Given the description of an element on the screen output the (x, y) to click on. 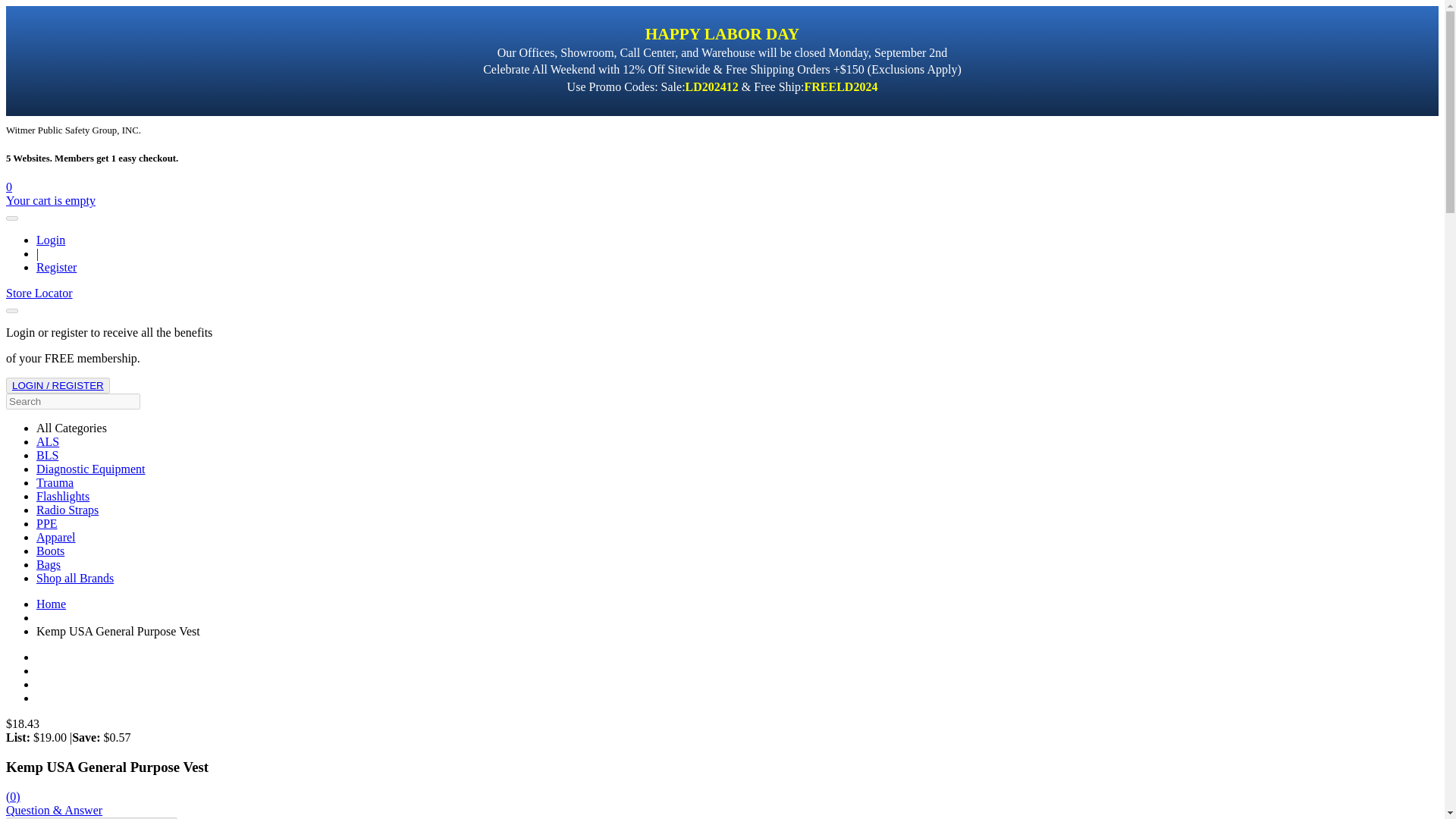
BLS (47, 454)
Diagnostic Equipment (90, 468)
Store Locator (38, 292)
PPE (47, 522)
Store Locator (38, 292)
ALS (47, 440)
Boots (50, 550)
Bags (48, 563)
Trauma (55, 481)
Login (50, 239)
